Given the description of an element on the screen output the (x, y) to click on. 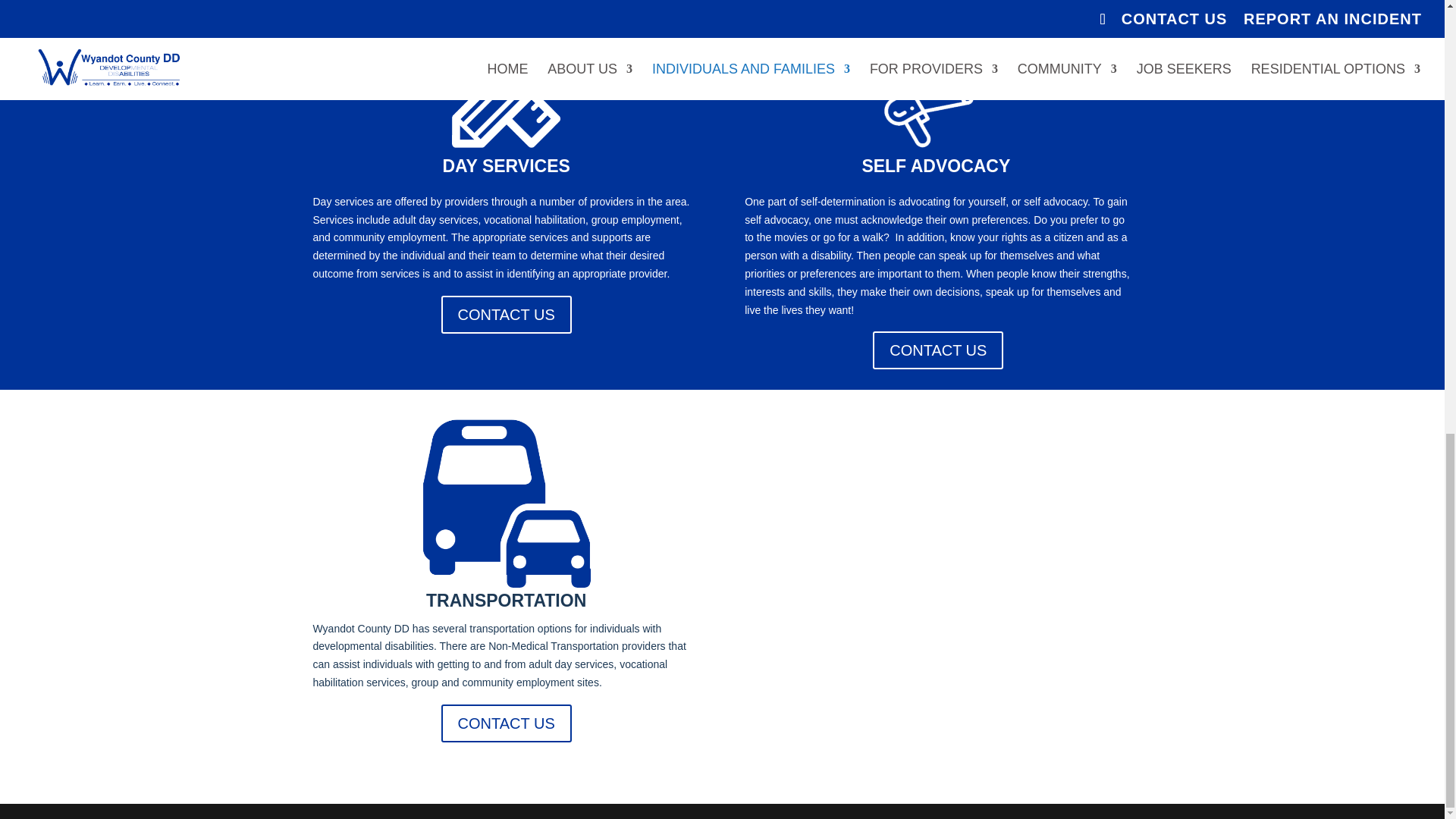
advocate (937, 93)
vocational (505, 93)
transporation3 (506, 506)
